Given the description of an element on the screen output the (x, y) to click on. 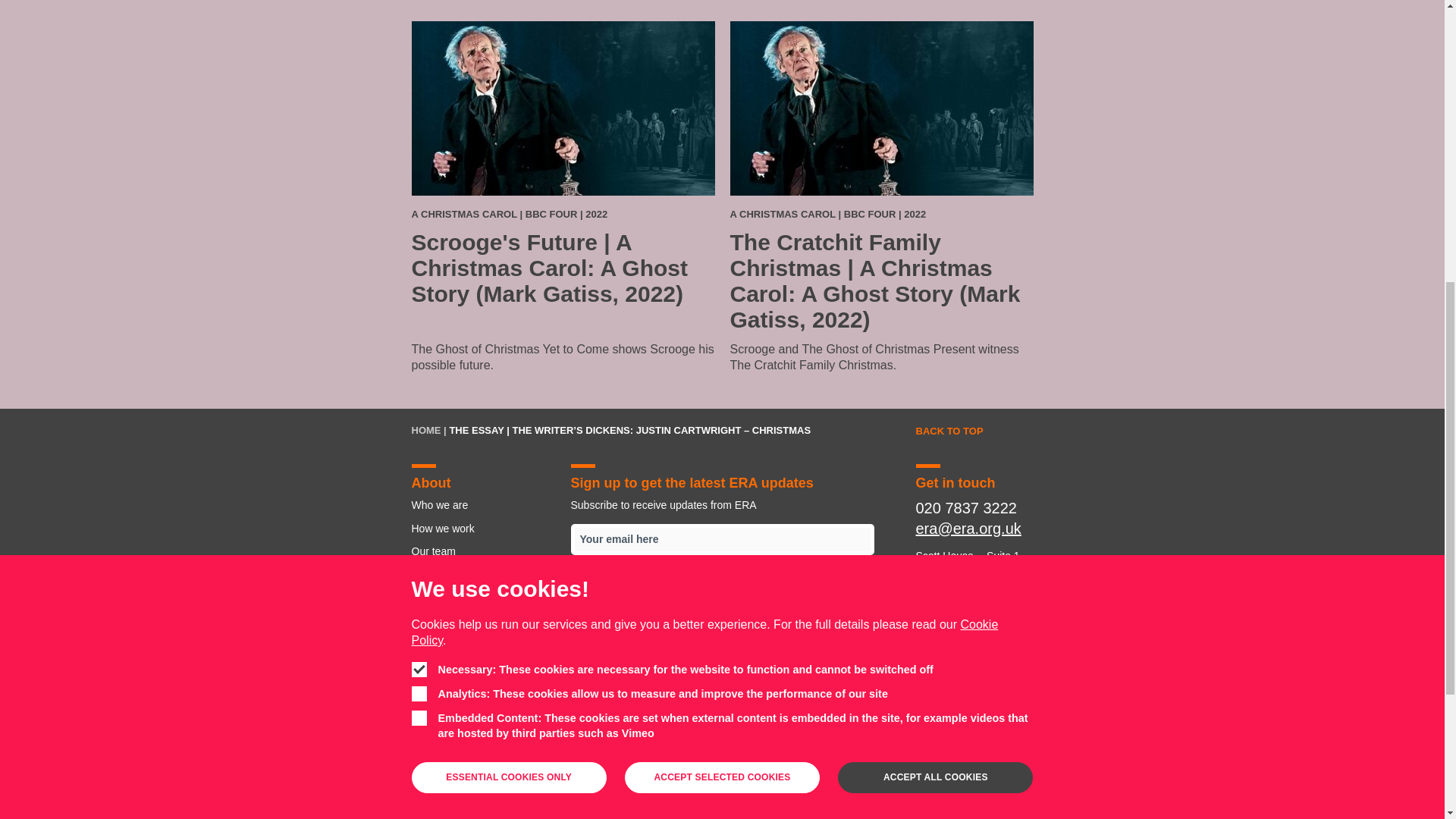
Sign Up (722, 584)
Who we are (435, 757)
How we work (497, 757)
Our team (556, 757)
Governance (482, 597)
Partner organisations (812, 757)
Accessibility Statement (482, 666)
Sign Up (722, 584)
Updates (482, 643)
Our team (482, 550)
Organisations we represent (641, 757)
Organisations we represent (482, 574)
Who we are (482, 504)
Partner organisations (482, 620)
Updates (883, 757)
